Given the description of an element on the screen output the (x, y) to click on. 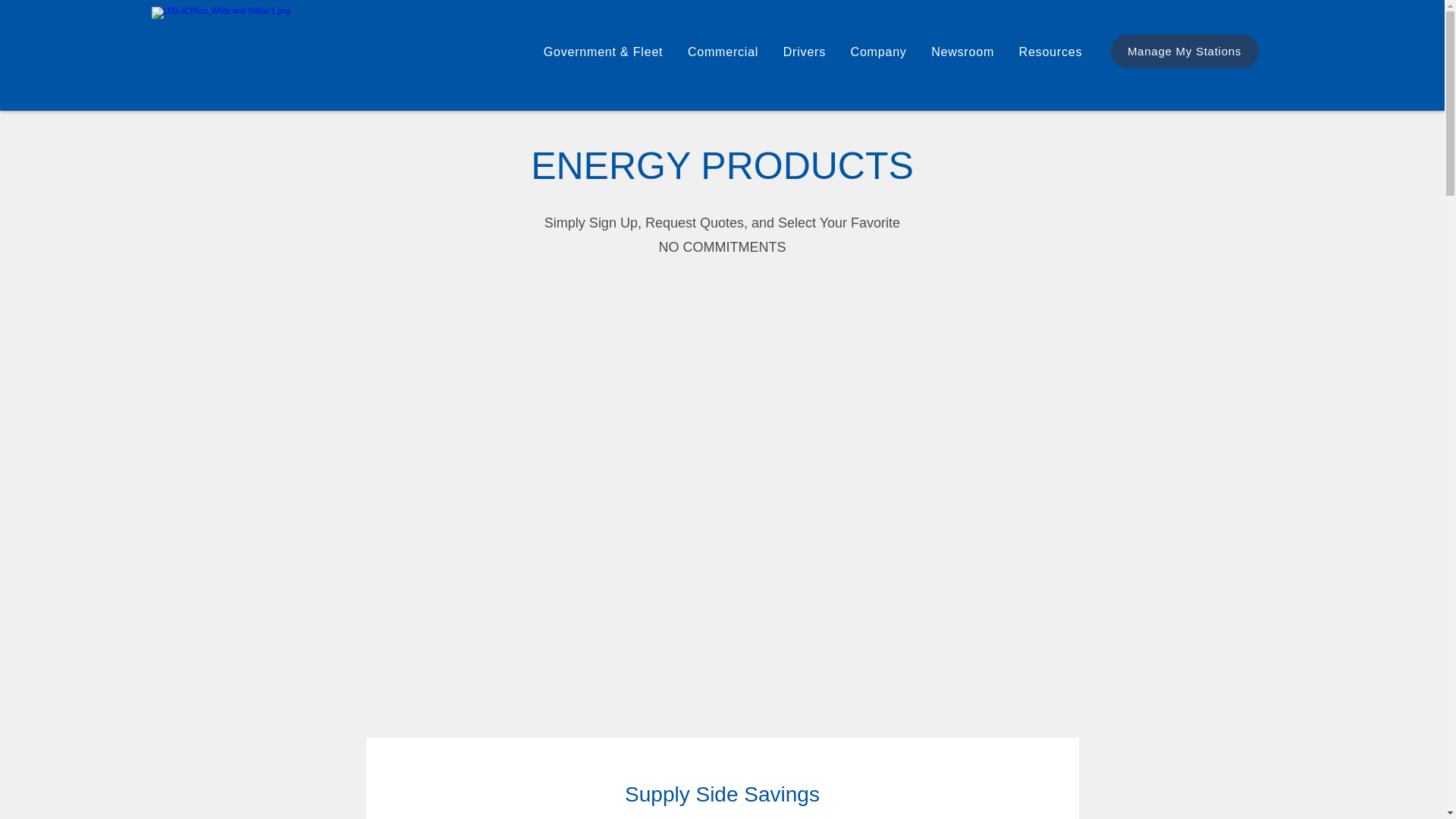
Drivers (803, 51)
Manage My Stations (1183, 50)
Commercial (723, 51)
Company (878, 51)
Newsroom (962, 51)
Resources (1049, 51)
